Given the description of an element on the screen output the (x, y) to click on. 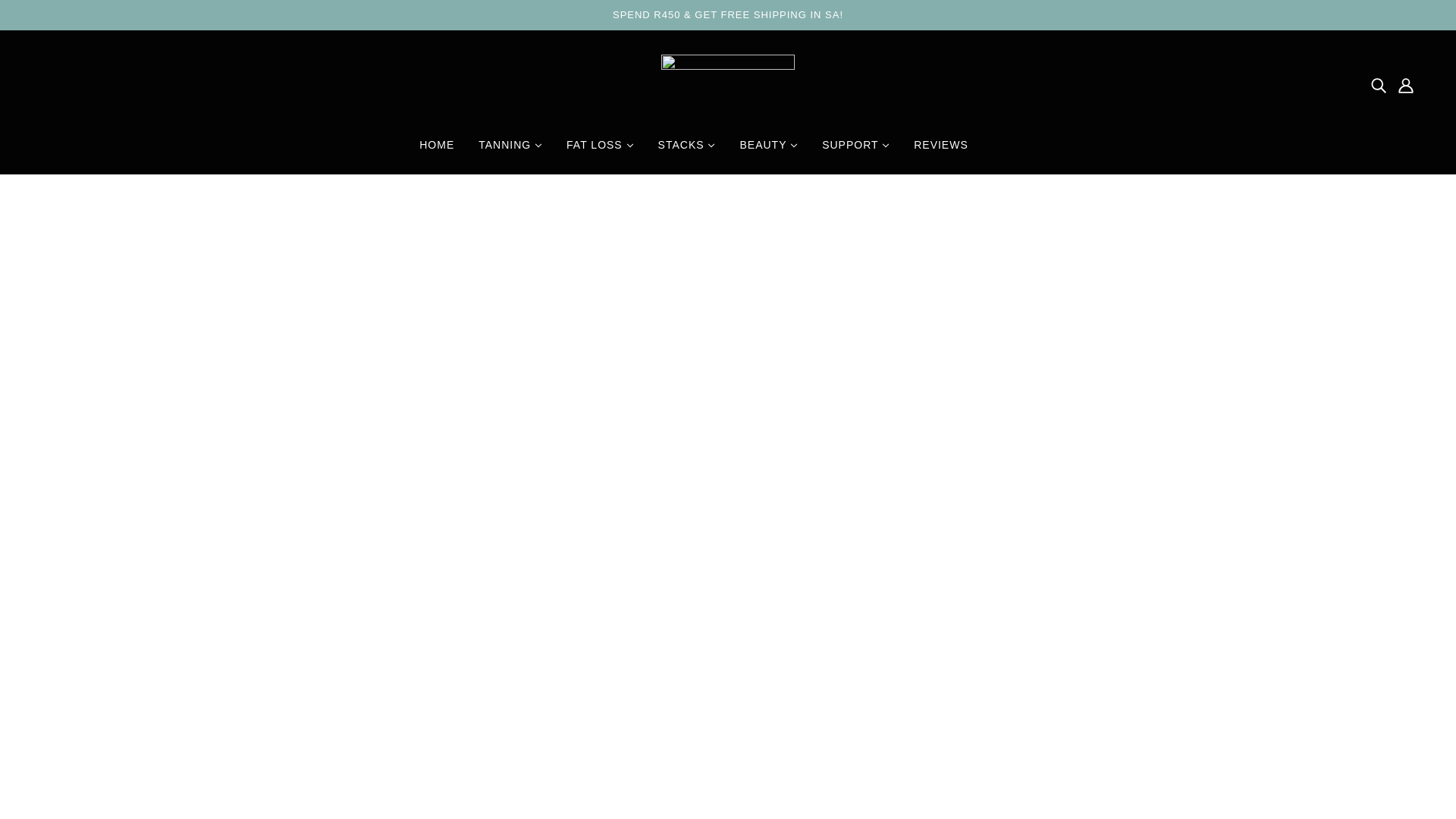
HOME (436, 150)
TANNING (509, 150)
Melano Tan  (727, 84)
